Given the description of an element on the screen output the (x, y) to click on. 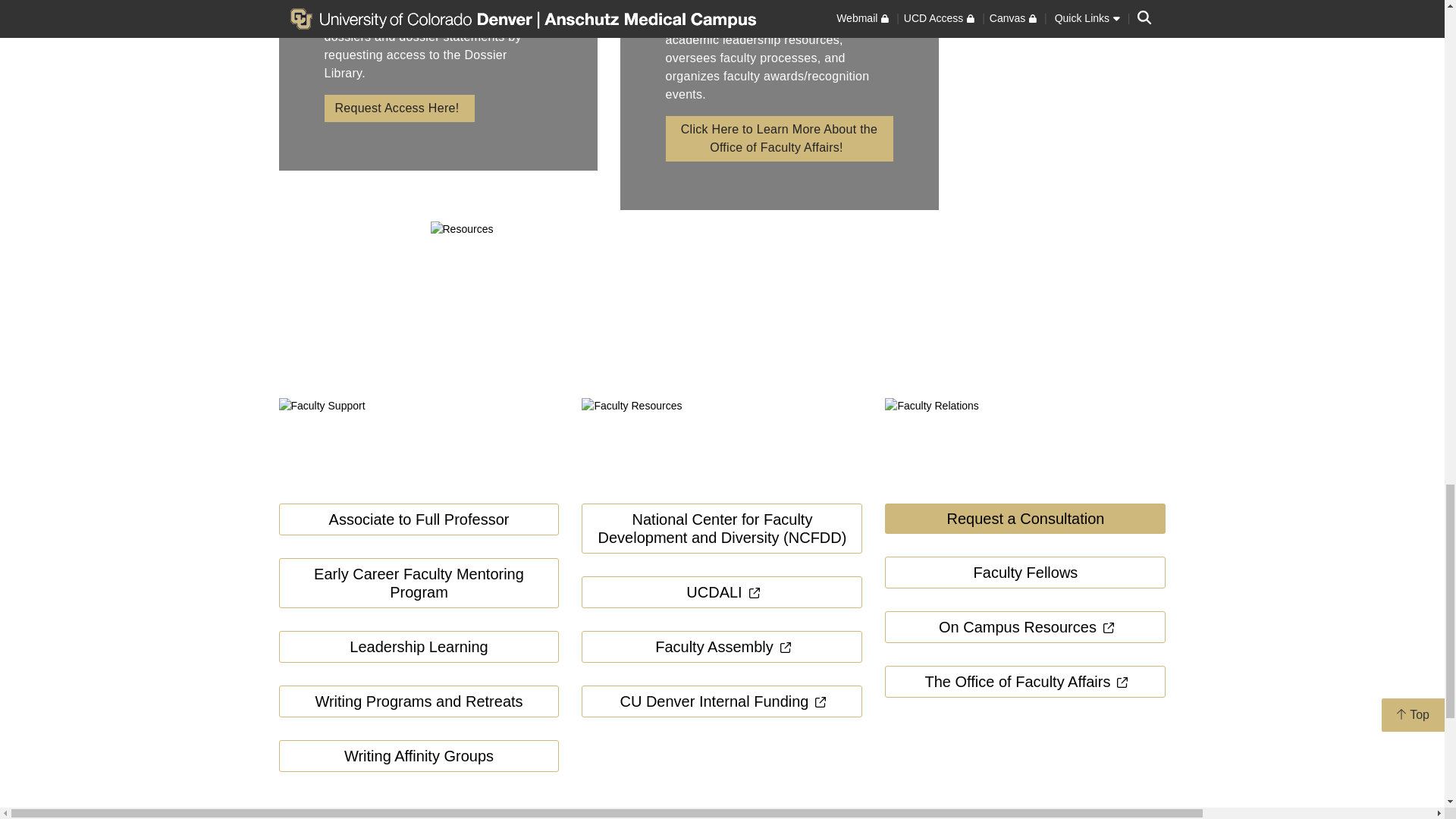
Faculty Relations (1025, 444)
Resources (695, 309)
Faculty Support (419, 444)
Faculty Resources (720, 444)
